Given the description of an element on the screen output the (x, y) to click on. 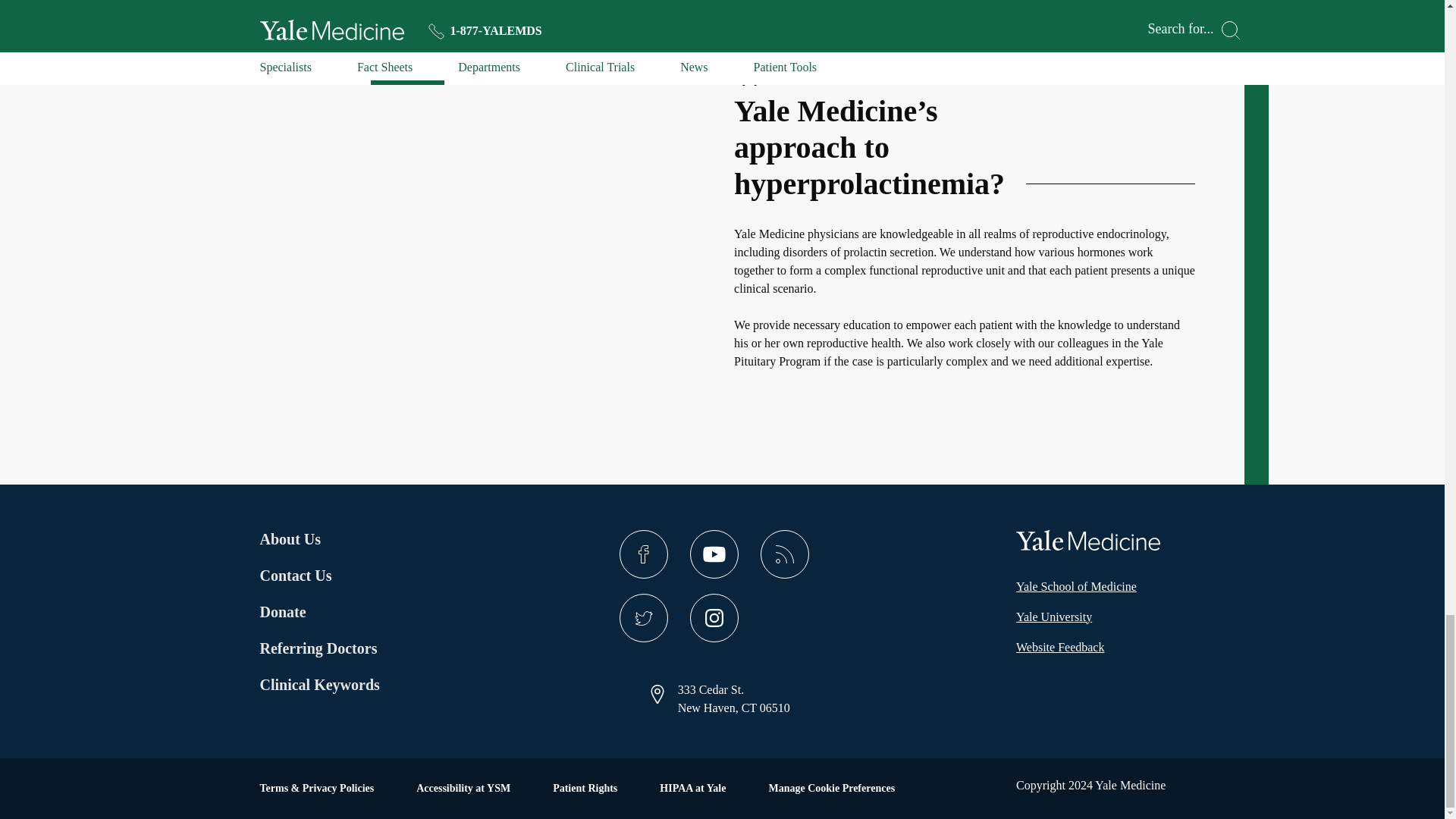
Website Feedback (1059, 647)
Referring Doctors (318, 648)
Donate (318, 611)
Yale University (1054, 617)
Contact Us (318, 575)
Clinical Keywords (339, 684)
About Us (318, 538)
Yale School of Medicine (1076, 587)
